Given the description of an element on the screen output the (x, y) to click on. 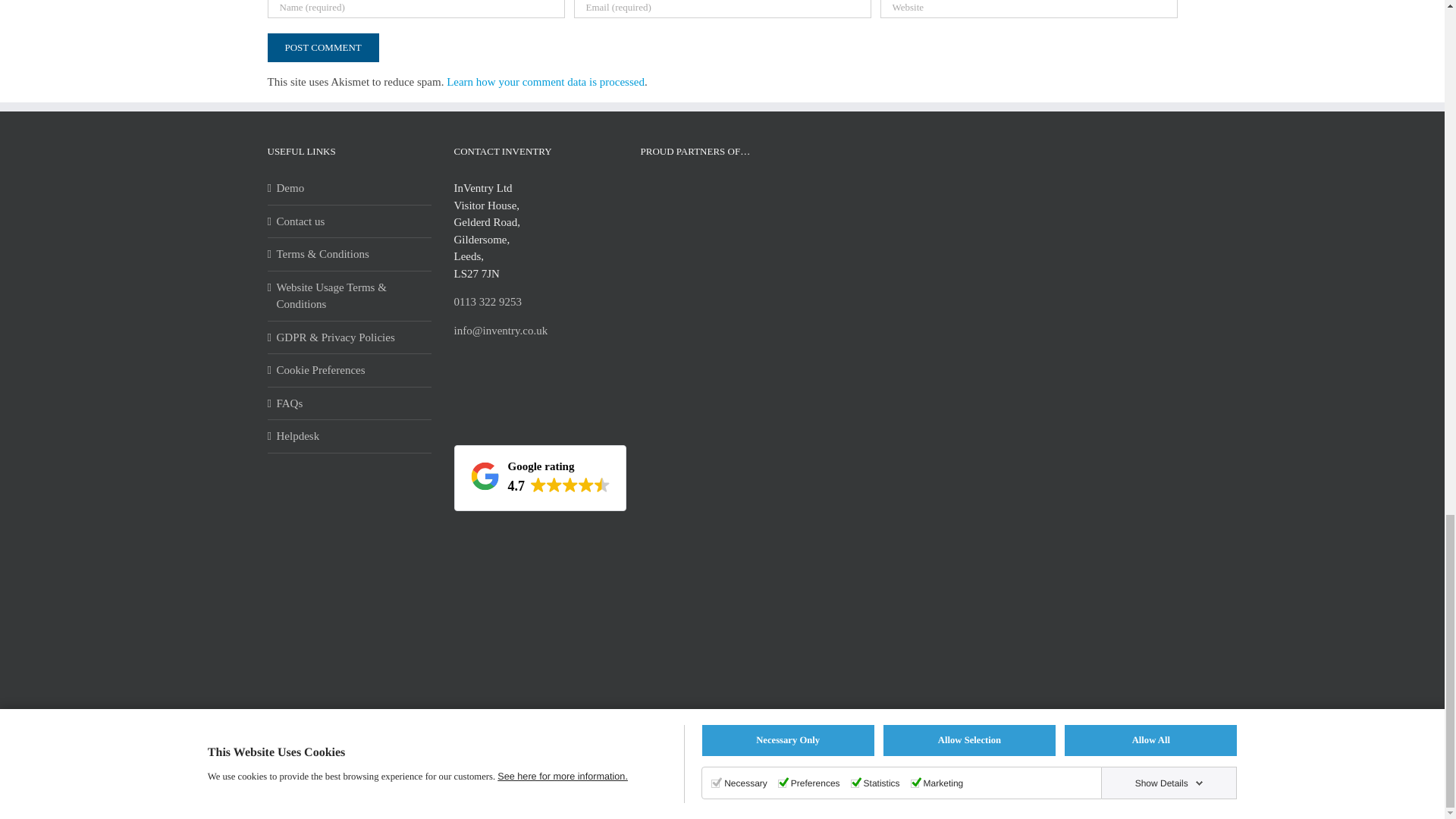
Post Comment (322, 47)
